Given the description of an element on the screen output the (x, y) to click on. 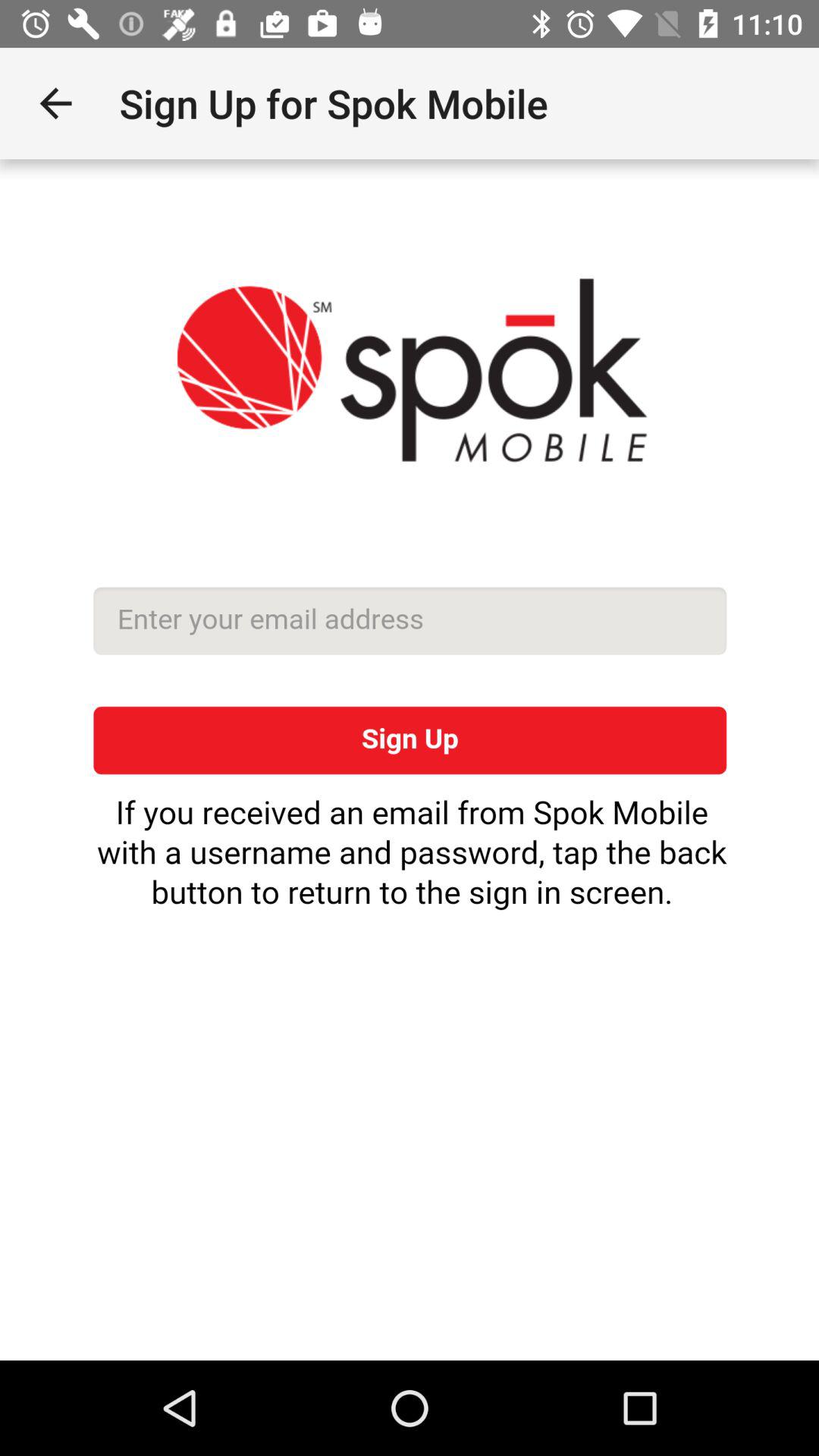
sign up (409, 759)
